Given the description of an element on the screen output the (x, y) to click on. 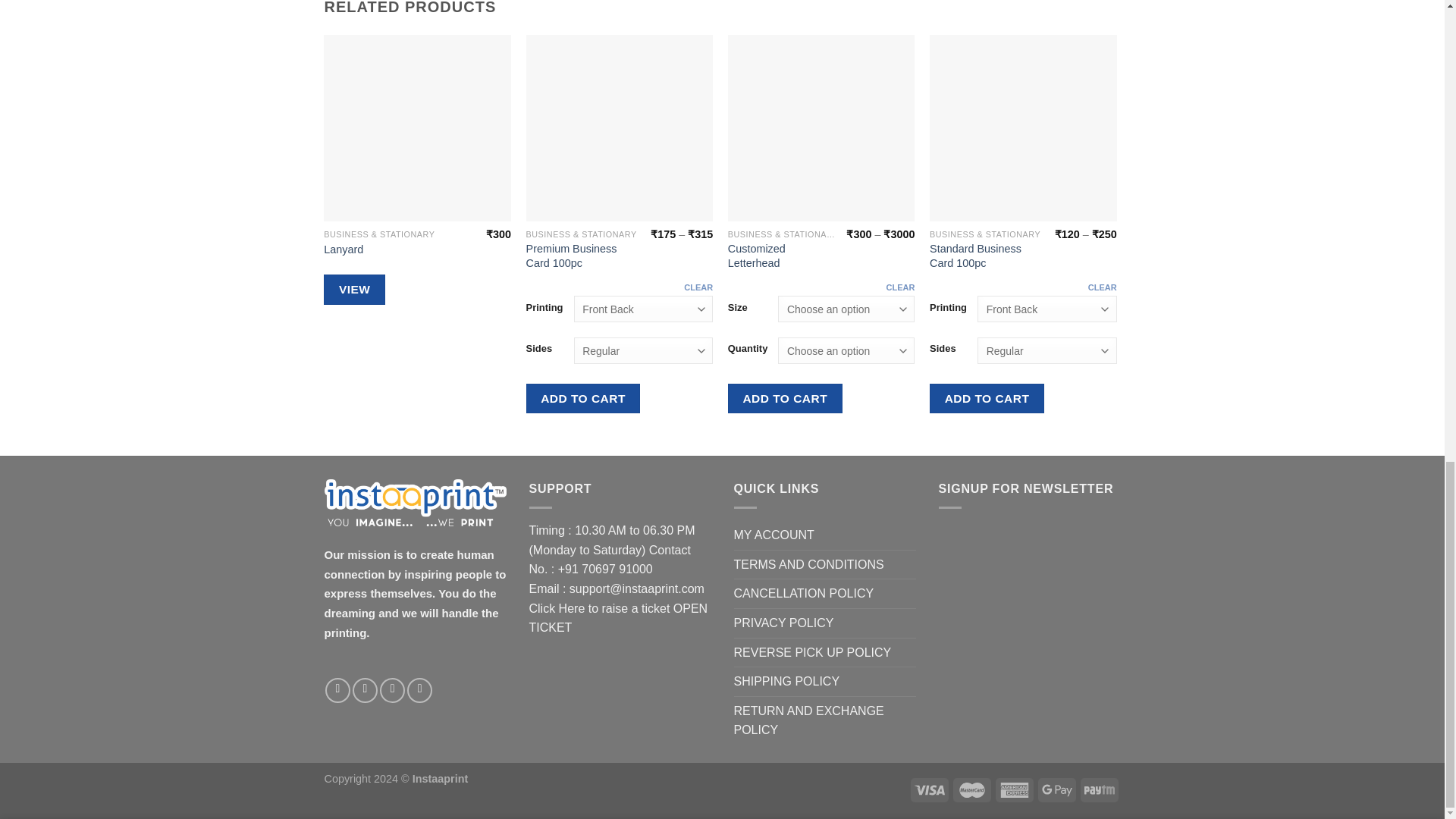
Follow on Facebook (337, 690)
Follow on LinkedIn (419, 690)
Follow on Instagram (364, 690)
Follow on Pinterest (392, 690)
